Given the description of an element on the screen output the (x, y) to click on. 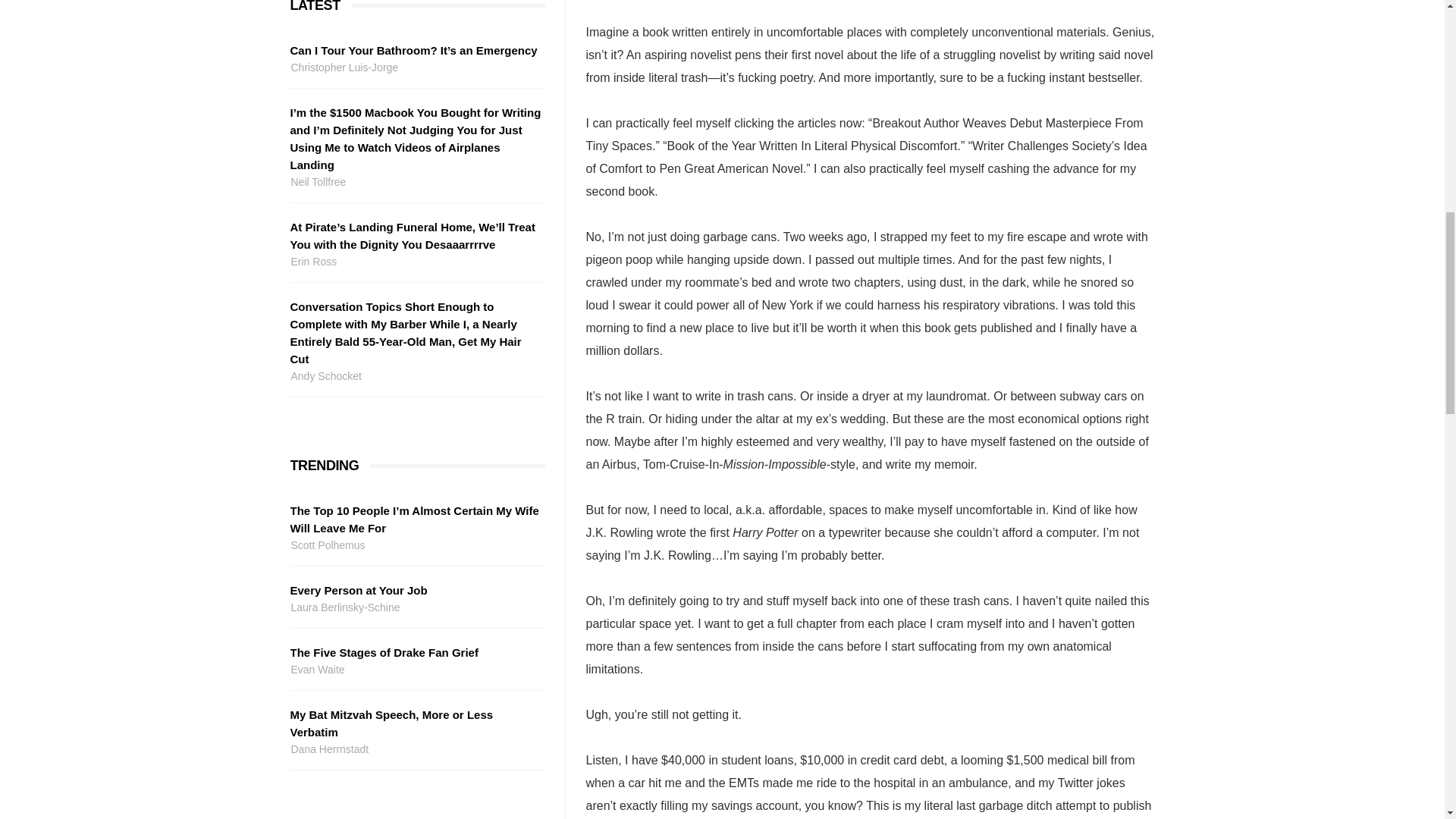
The Five Stages of Drake Fan Grief (414, 651)
My Bat Mitzvah Speech, More or Less Verbatim (414, 723)
Erin Ross (414, 262)
Andy Schocket (414, 375)
Scott Polhemus (414, 545)
Christopher Luis-Jorge (414, 67)
Neil Tollfree (414, 181)
Dana Herrnstadt (414, 749)
Every Person at Your Job (414, 589)
